Given the description of an element on the screen output the (x, y) to click on. 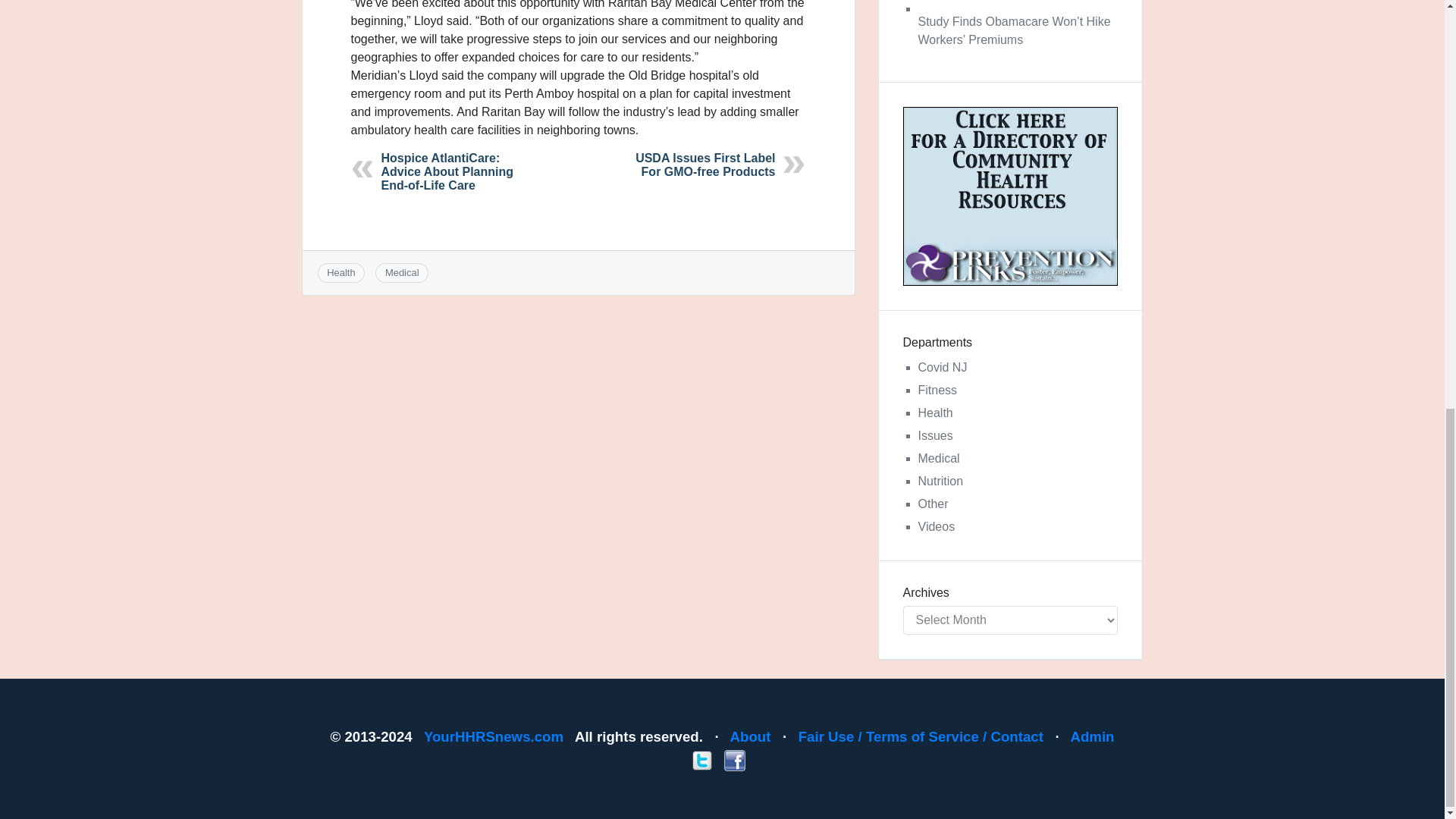
Hospice AtlantiCare: Advice About Planning End-of-Life Care (446, 171)
Videos (936, 526)
Other (932, 503)
Medical (938, 458)
Medical (402, 272)
Admin (1091, 736)
About (750, 736)
Nutrition (939, 481)
Health (340, 272)
USDA Issues First Label For GMO-free Products (704, 164)
